Given the description of an element on the screen output the (x, y) to click on. 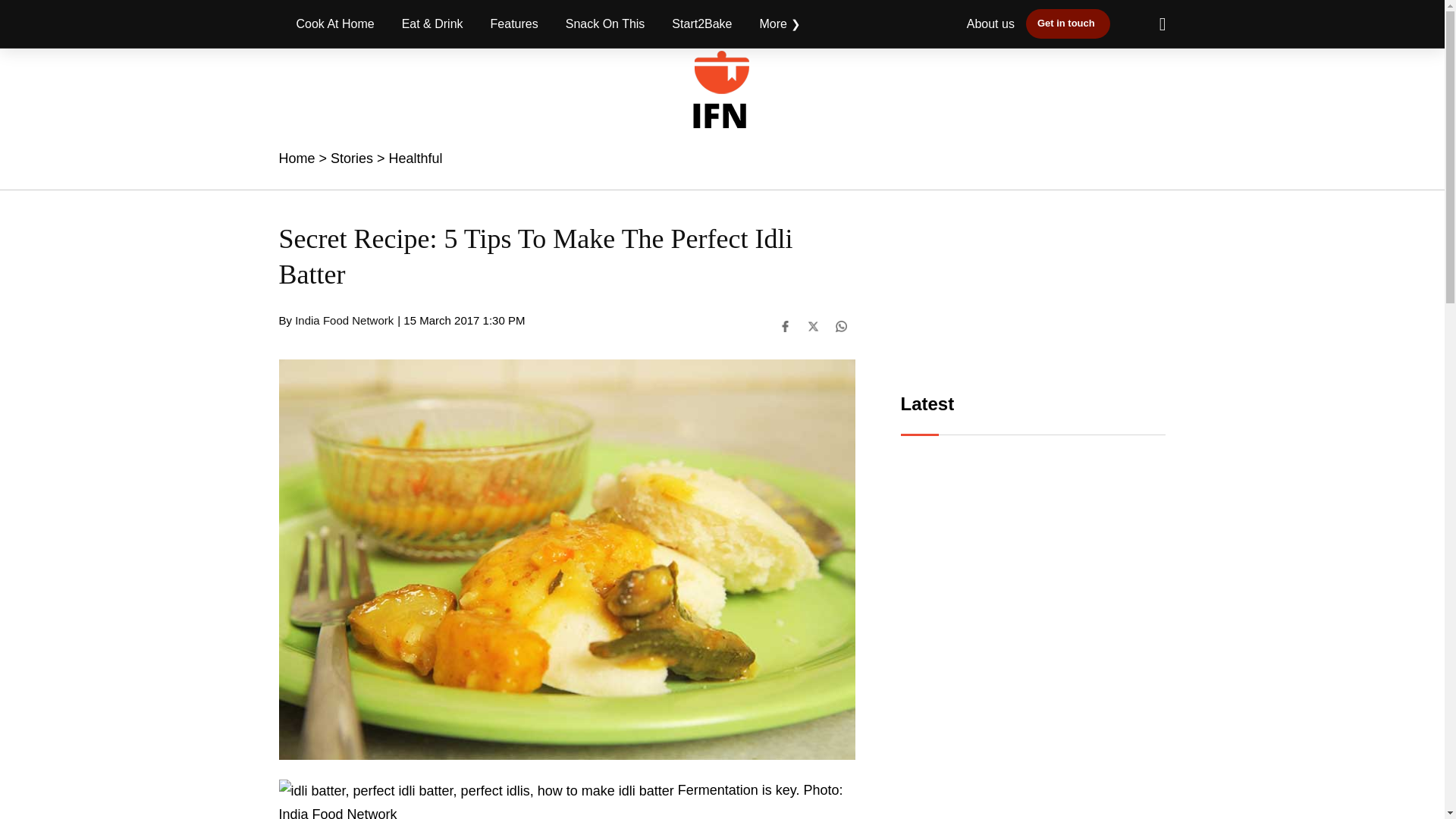
Cook At Home (335, 23)
About us (990, 23)
More (779, 23)
Features (514, 23)
Get in touch (1067, 23)
Stories (351, 158)
Start2Bake (701, 23)
Snack On This (605, 23)
Healthful (415, 158)
Search (1155, 24)
